Given the description of an element on the screen output the (x, y) to click on. 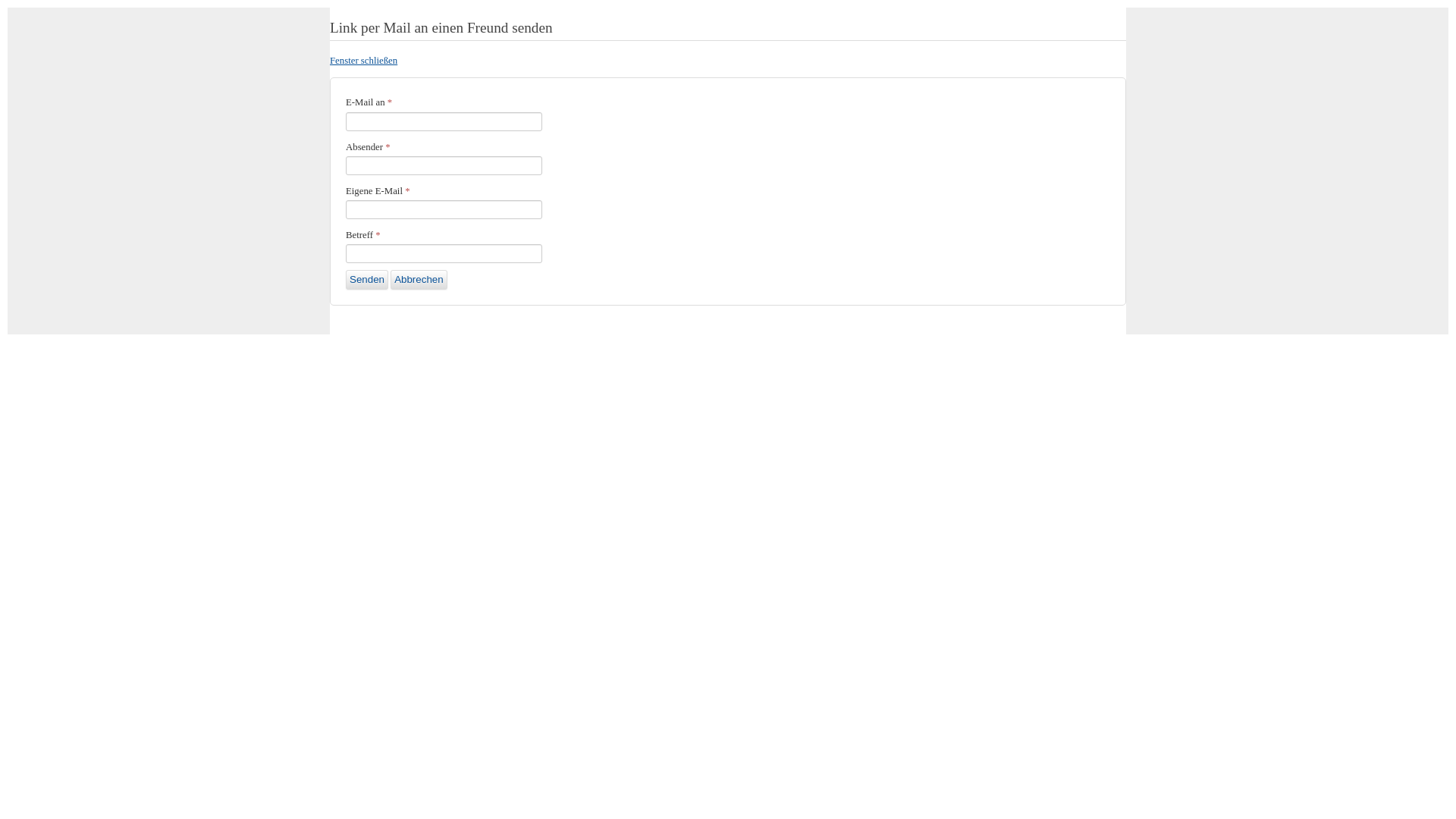
Abbrechen Element type: text (418, 279)
Senden Element type: text (366, 279)
